Given the description of an element on the screen output the (x, y) to click on. 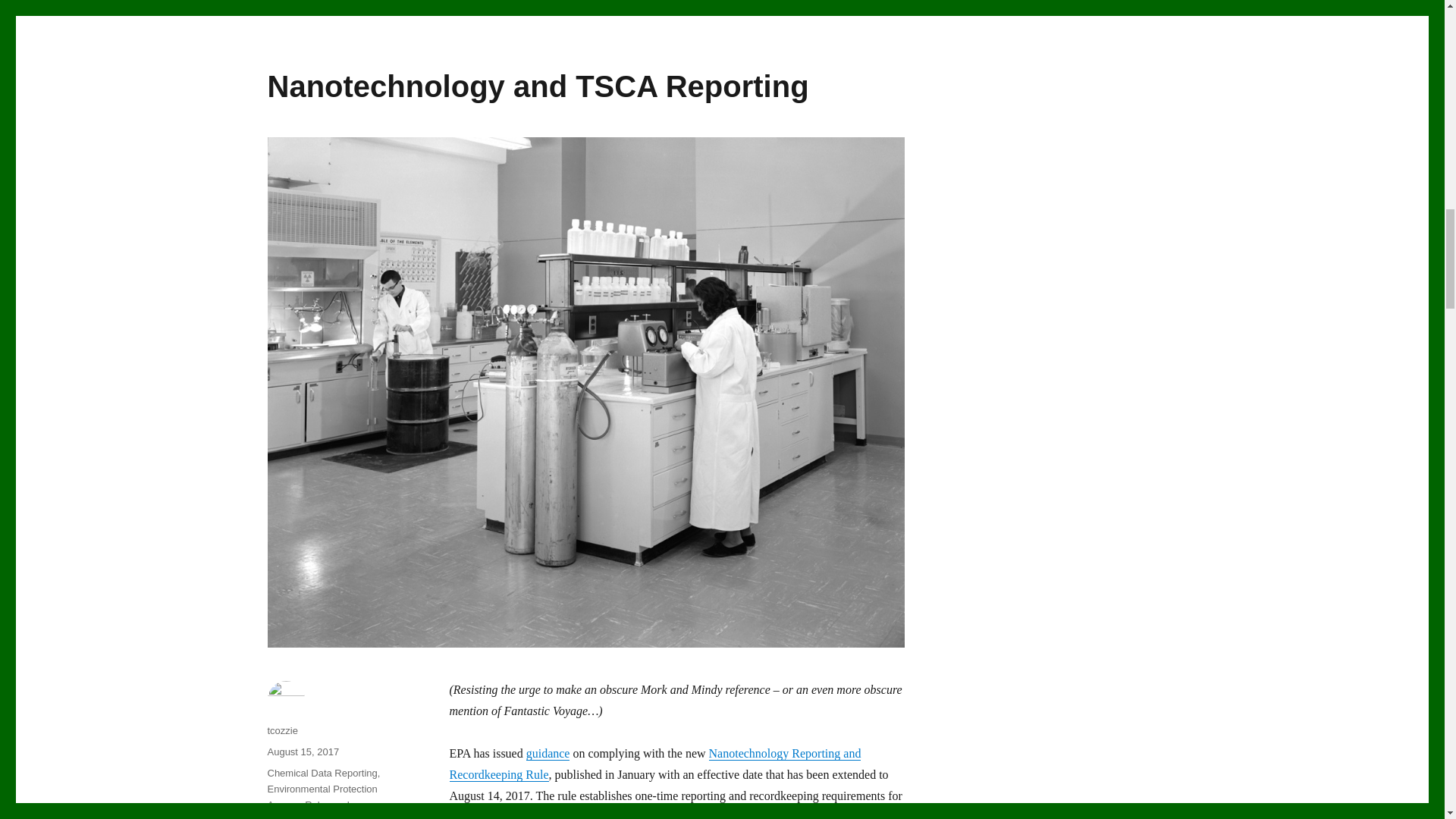
Chemical Data Reporting (321, 772)
Nanotechnology Reporting and Recordkeeping Rule (654, 763)
August 15, 2017 (302, 751)
Rules and Regulations (307, 809)
Environmental Protection Agency (321, 796)
tcozzie (281, 730)
Nanotechnology and TSCA Reporting (537, 86)
TSCA (337, 816)
guidance (547, 753)
